Given the description of an element on the screen output the (x, y) to click on. 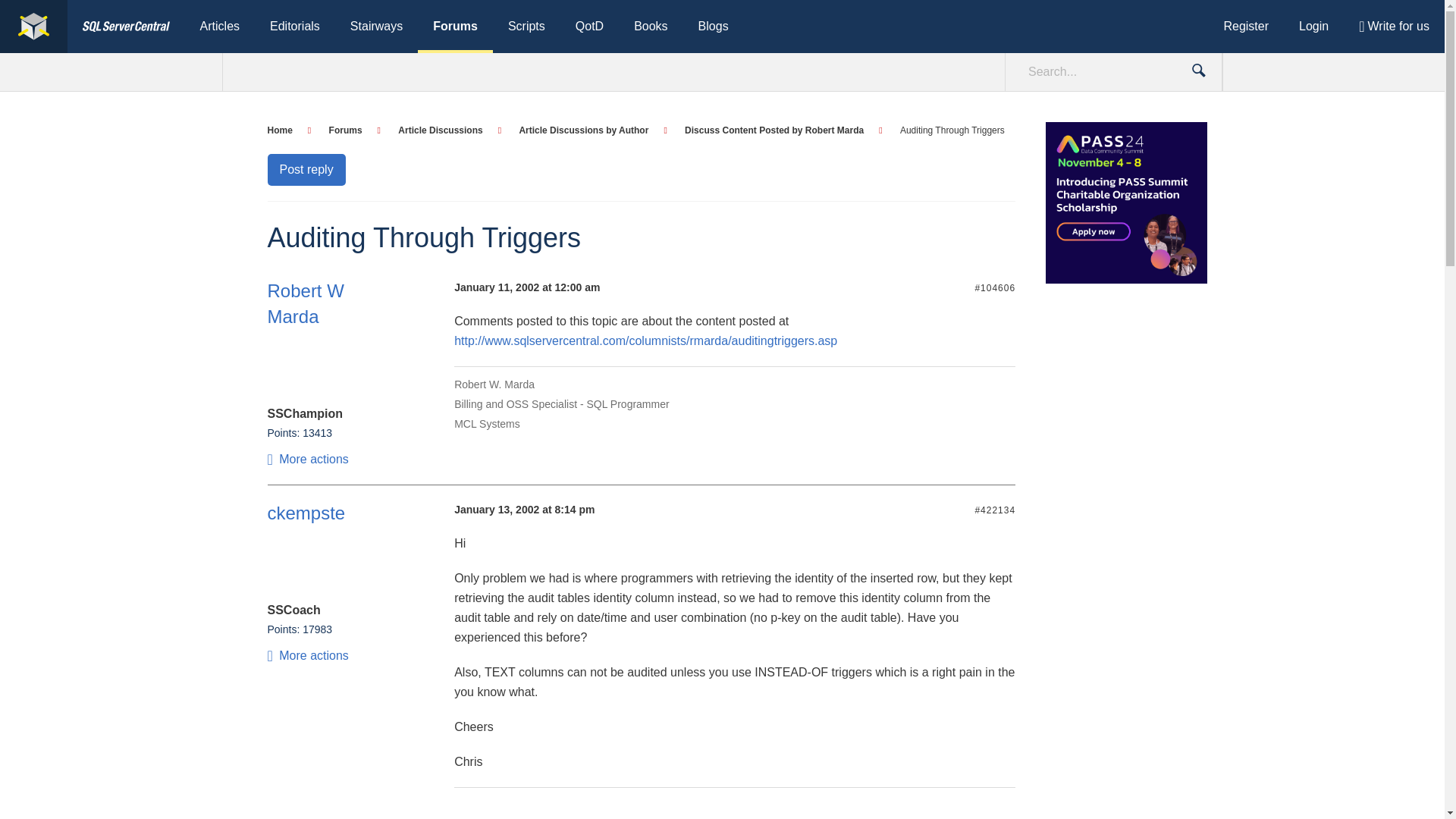
Article Discussions (448, 130)
Stairways (375, 26)
SQLServerCentral (33, 26)
Login (1313, 26)
Article Discussions by Author (592, 130)
Books (650, 26)
Home (288, 130)
Articles (219, 26)
Forums (354, 130)
Scripts (526, 26)
